Given the description of an element on the screen output the (x, y) to click on. 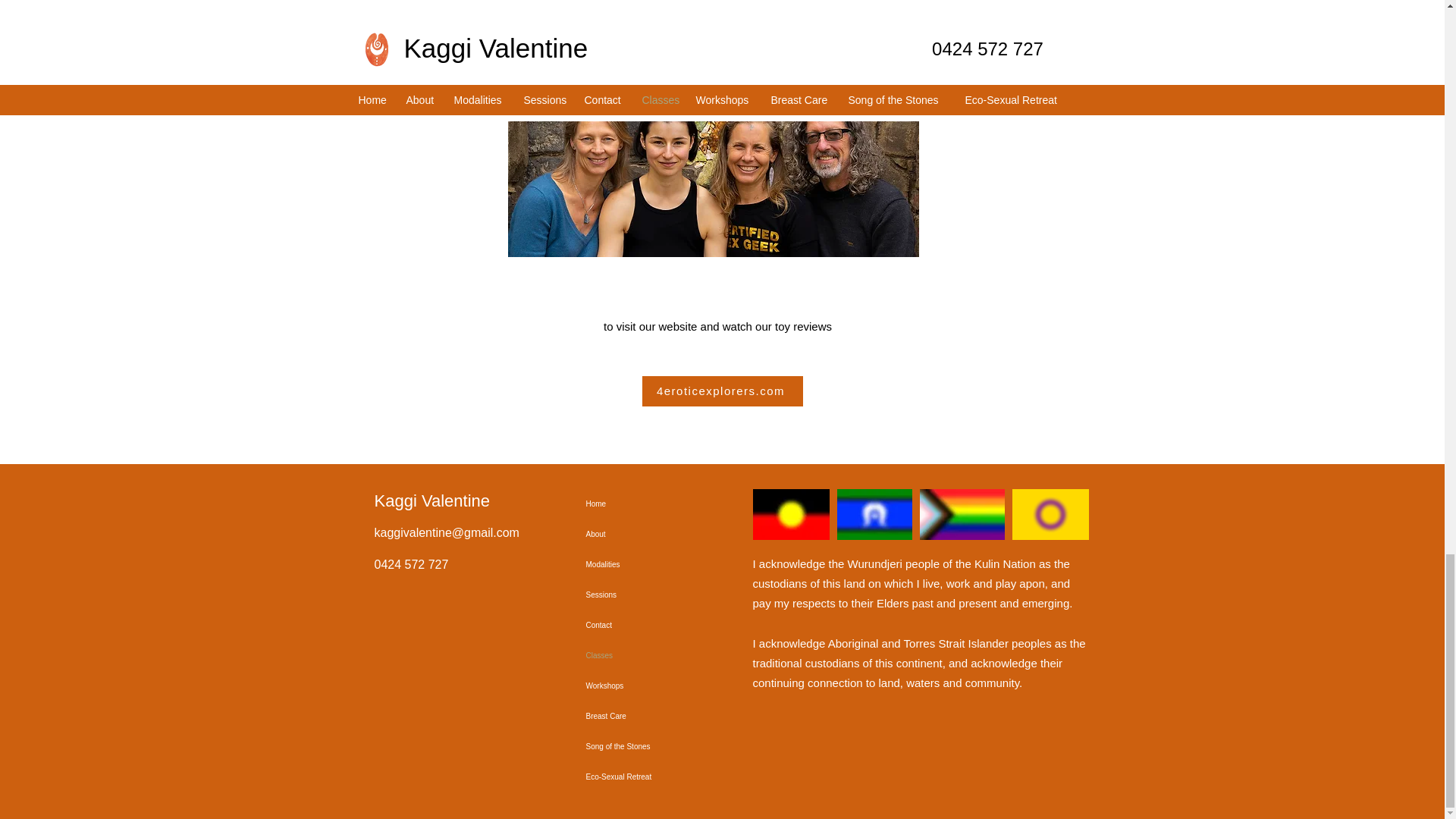
torres strait islander flag.jpg (874, 513)
Modalities (639, 564)
4eroticexplorers.com (722, 390)
Classes (639, 655)
Breast Care (639, 716)
Intersex Pride Flag.png (1049, 513)
new-pride-flag-01.jpg (961, 513)
Home (639, 503)
Workshops (639, 685)
Contact (639, 625)
Song of the Stones (639, 747)
Eco-Sexual Retreat (639, 777)
Sessions (639, 594)
aboriginal flag.jpg (790, 513)
About (639, 534)
